Given the description of an element on the screen output the (x, y) to click on. 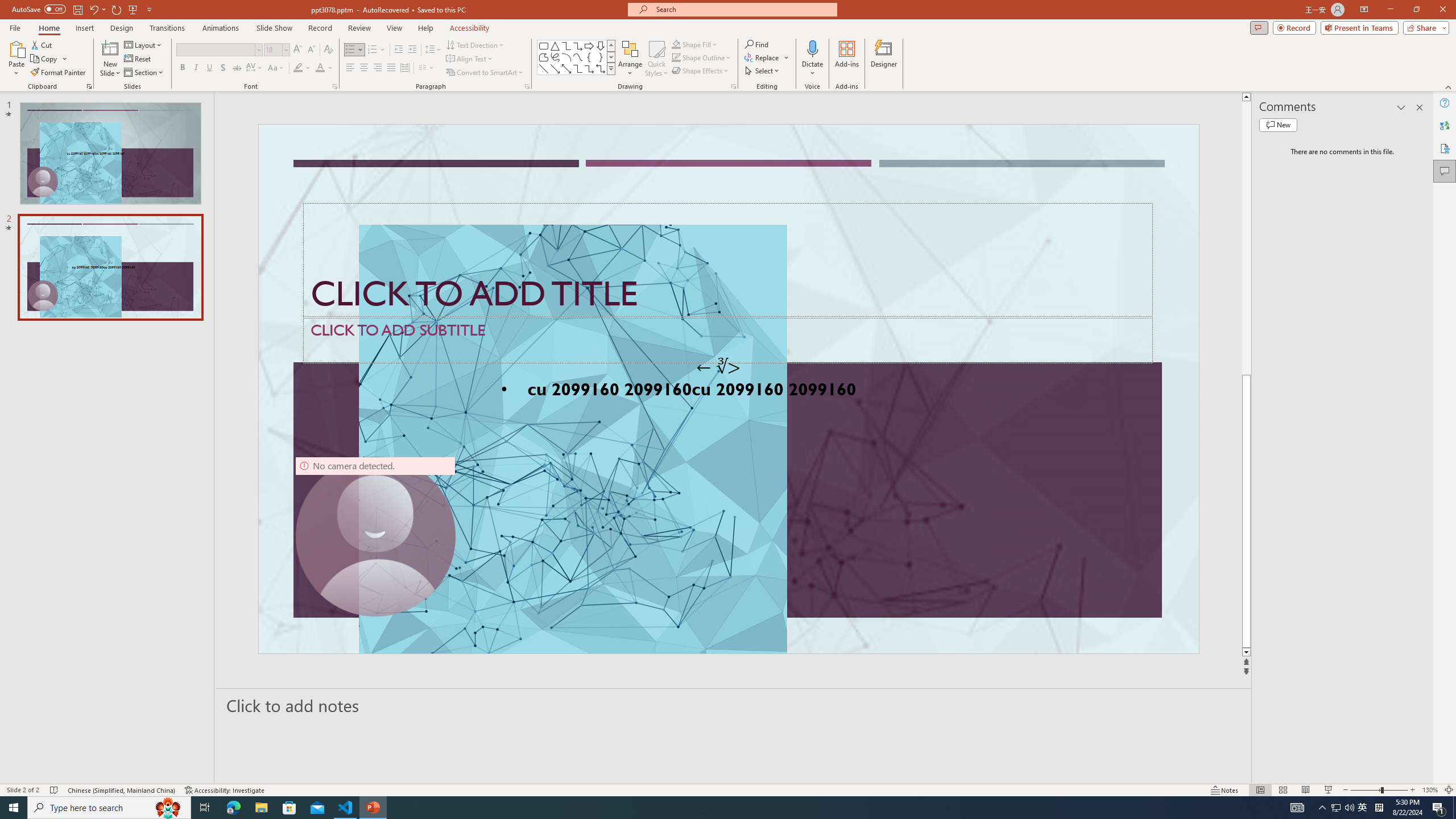
Line up (1245, 96)
Italic (195, 67)
Collapse the Ribbon (1448, 86)
Clear Formatting (327, 49)
Present in Teams (1359, 27)
Copy (49, 58)
Designer (883, 58)
Line down (1245, 652)
Shape Outline (701, 56)
Increase Indent (412, 49)
Arrow: Right (589, 45)
Dictate (812, 48)
TextBox 61 (726, 391)
